Given the description of an element on the screen output the (x, y) to click on. 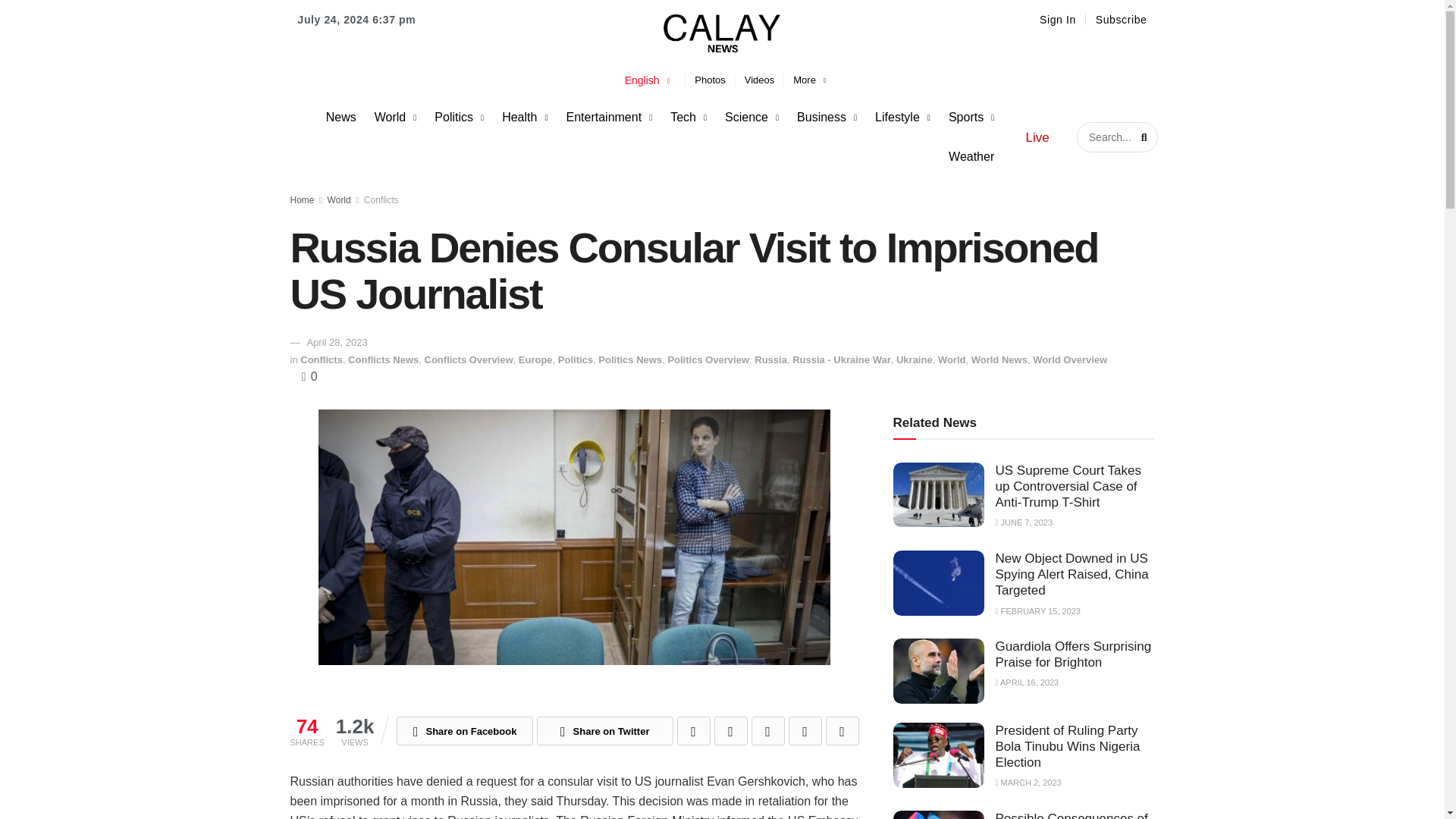
English (647, 80)
More (809, 80)
English (647, 80)
Videos (759, 80)
Photos (709, 80)
